Given the description of an element on the screen output the (x, y) to click on. 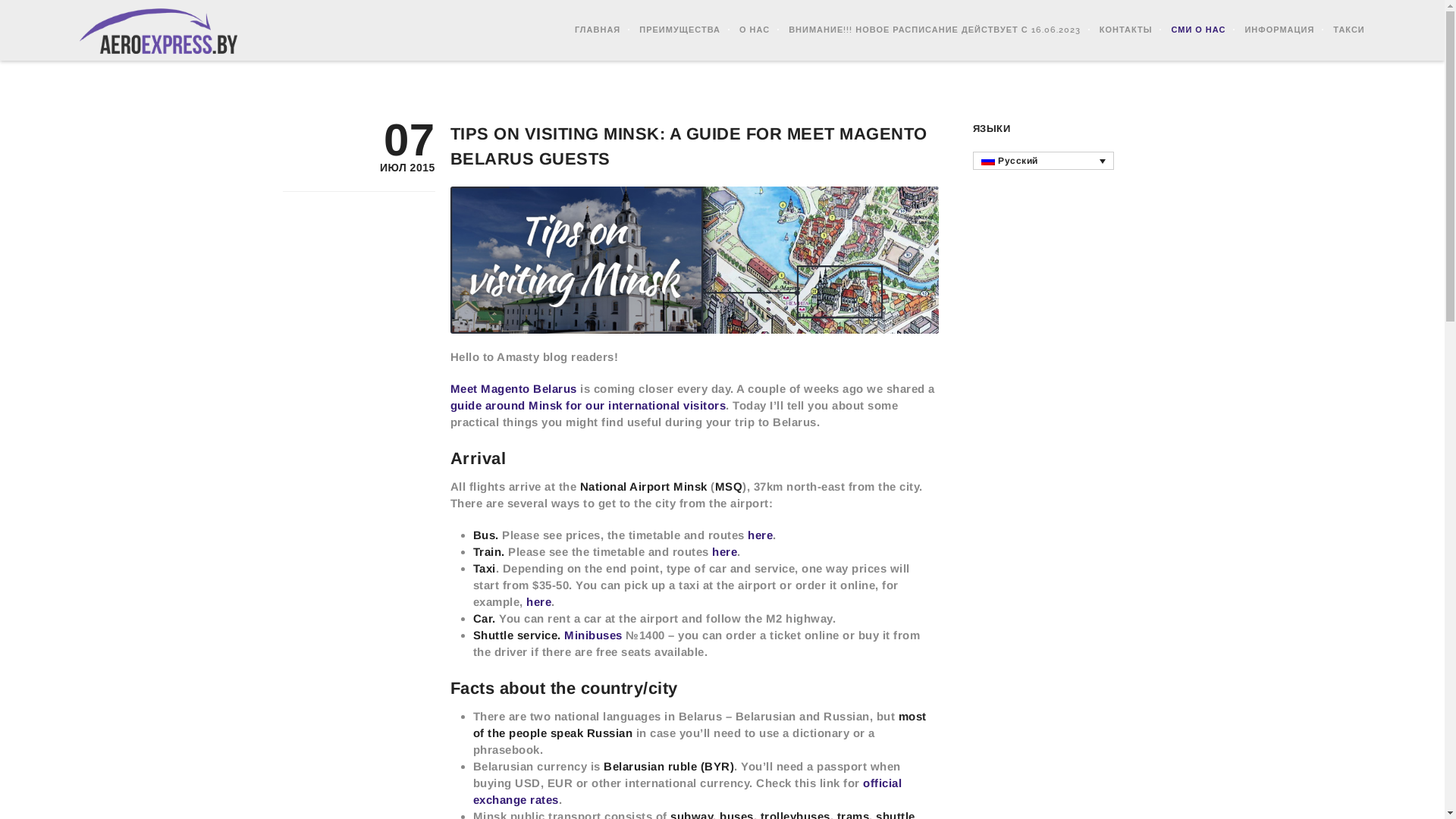
official exchange rates Element type: text (687, 791)
here Element type: text (538, 601)
guide around Minsk for our international visitors Element type: text (588, 404)
here Element type: text (724, 551)
Minibuses Element type: text (593, 634)
AeroExpress.BY Element type: hover (157, 29)
here Element type: text (759, 534)
Meet Magento Belarus Element type: text (513, 388)
